Given the description of an element on the screen output the (x, y) to click on. 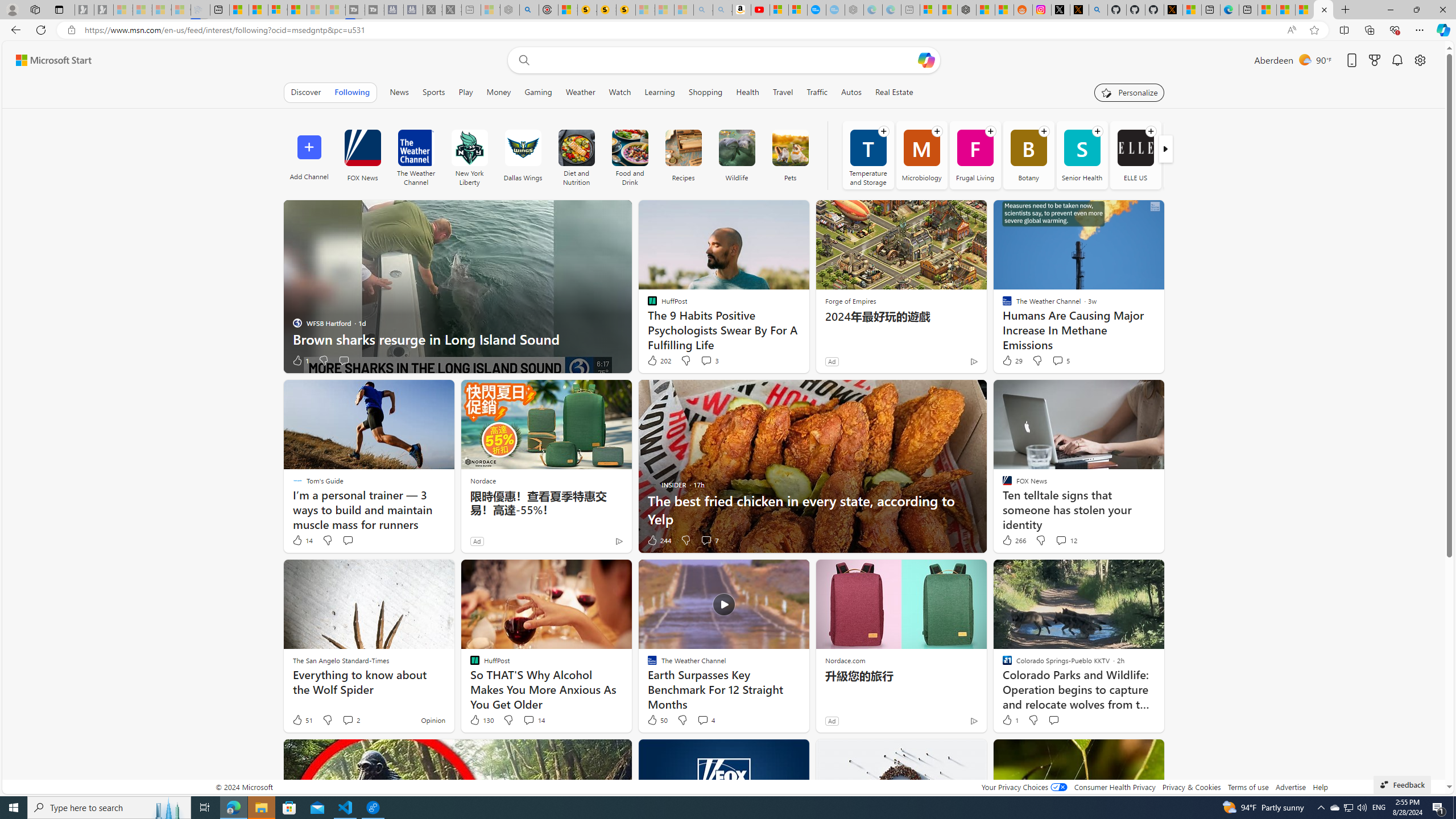
View comments 3 Comment (705, 360)
View comments 7 Comment (705, 540)
Day 1: Arriving in Yemen (surreal to be here) - YouTube (759, 9)
View comments 2 Comment (347, 719)
Travel (782, 92)
github - Search (1098, 9)
